Given the description of an element on the screen output the (x, y) to click on. 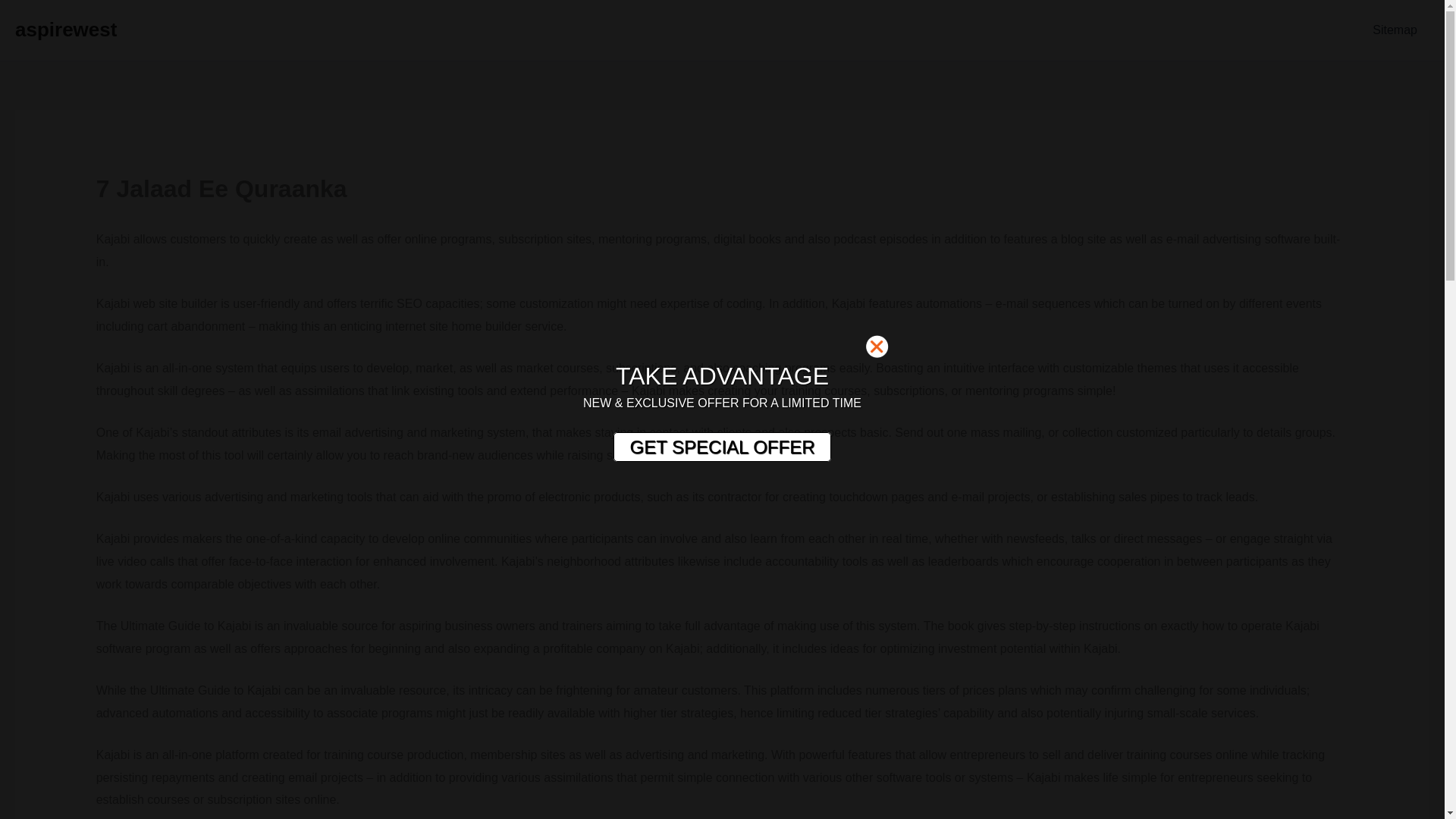
Sitemap (1394, 30)
GET SPECIAL OFFER (720, 446)
aspirewest (65, 29)
